Given the description of an element on the screen output the (x, y) to click on. 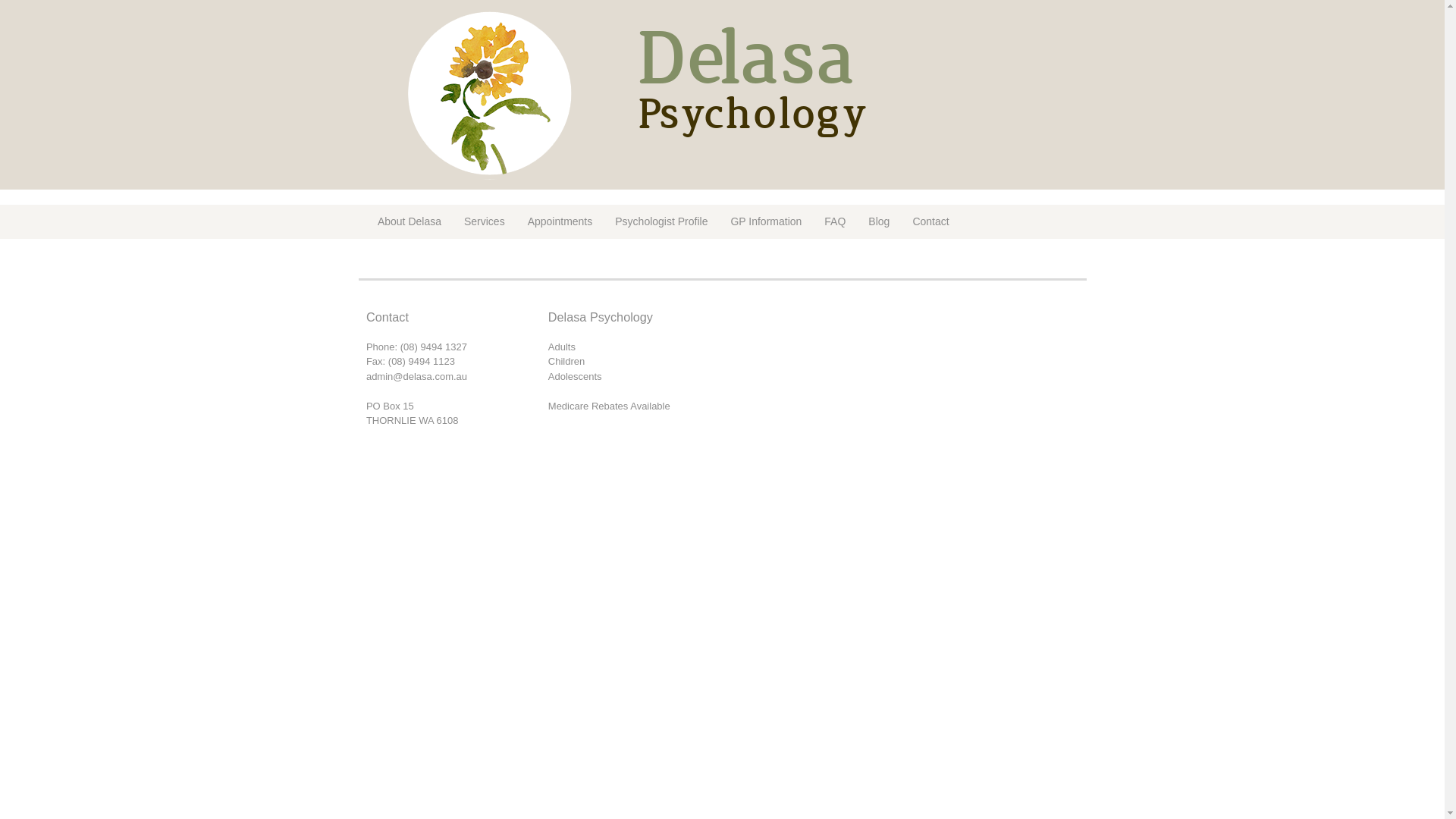
Appointments Element type: text (560, 221)
About Delasa Element type: text (409, 221)
Contact Element type: text (930, 221)
Blog Element type: text (878, 221)
FAQ Element type: text (834, 221)
GP Information Element type: text (765, 221)
Psychologist Profile Element type: text (660, 221)
Services Element type: text (484, 221)
